Given the description of an element on the screen output the (x, y) to click on. 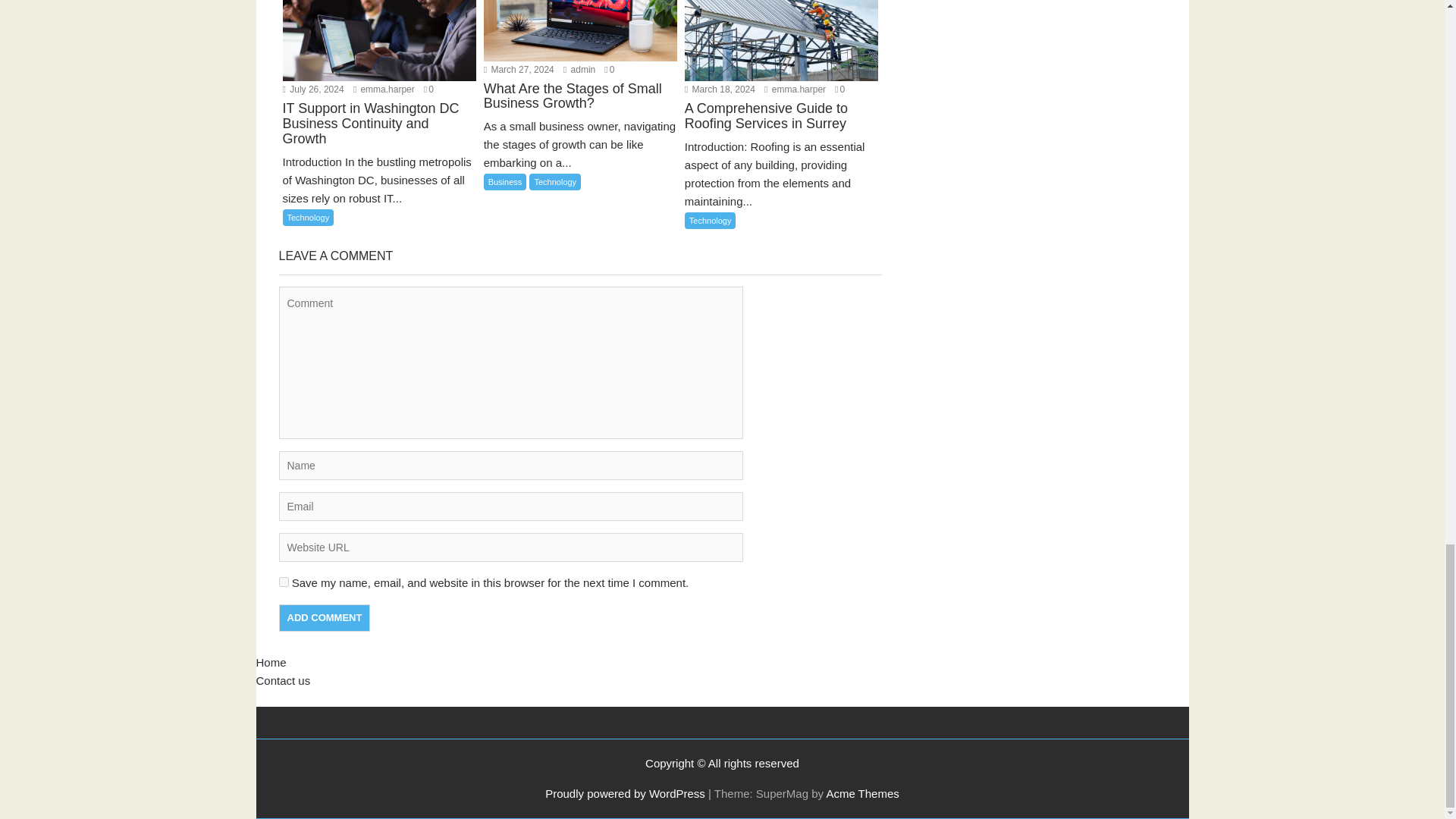
emma.harper (794, 89)
emma.harper (383, 89)
March 27, 2024 (518, 69)
emma.harper (383, 89)
IT Support in Washington DC Business Continuity and Growth (379, 133)
Technology (307, 217)
July 26, 2024 (312, 89)
admin (579, 69)
0 (428, 89)
admin (579, 69)
Add Comment (325, 617)
yes (283, 582)
